Given the description of an element on the screen output the (x, y) to click on. 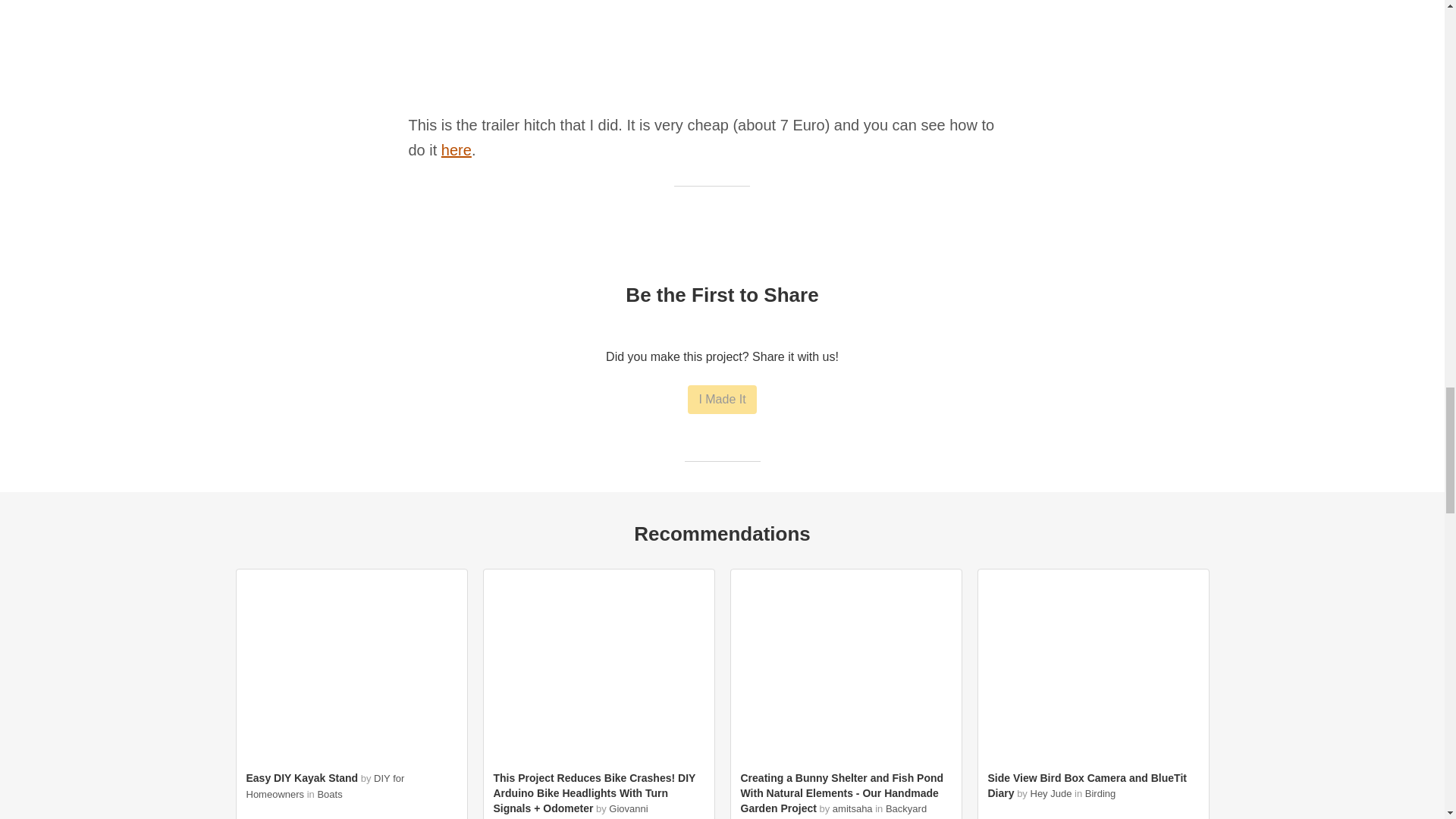
Side View Bird Box Camera and BlueTit Diary (1086, 785)
Easy DIY Kayak Stand (302, 777)
here (456, 149)
Boats (329, 794)
amitsaha (852, 808)
Hey Jude (1050, 793)
Birding (1099, 793)
Backyard (905, 808)
DIY for Homeowners (325, 786)
Giovanni Aggiustatutto (570, 811)
I Made It (721, 399)
